Given the description of an element on the screen output the (x, y) to click on. 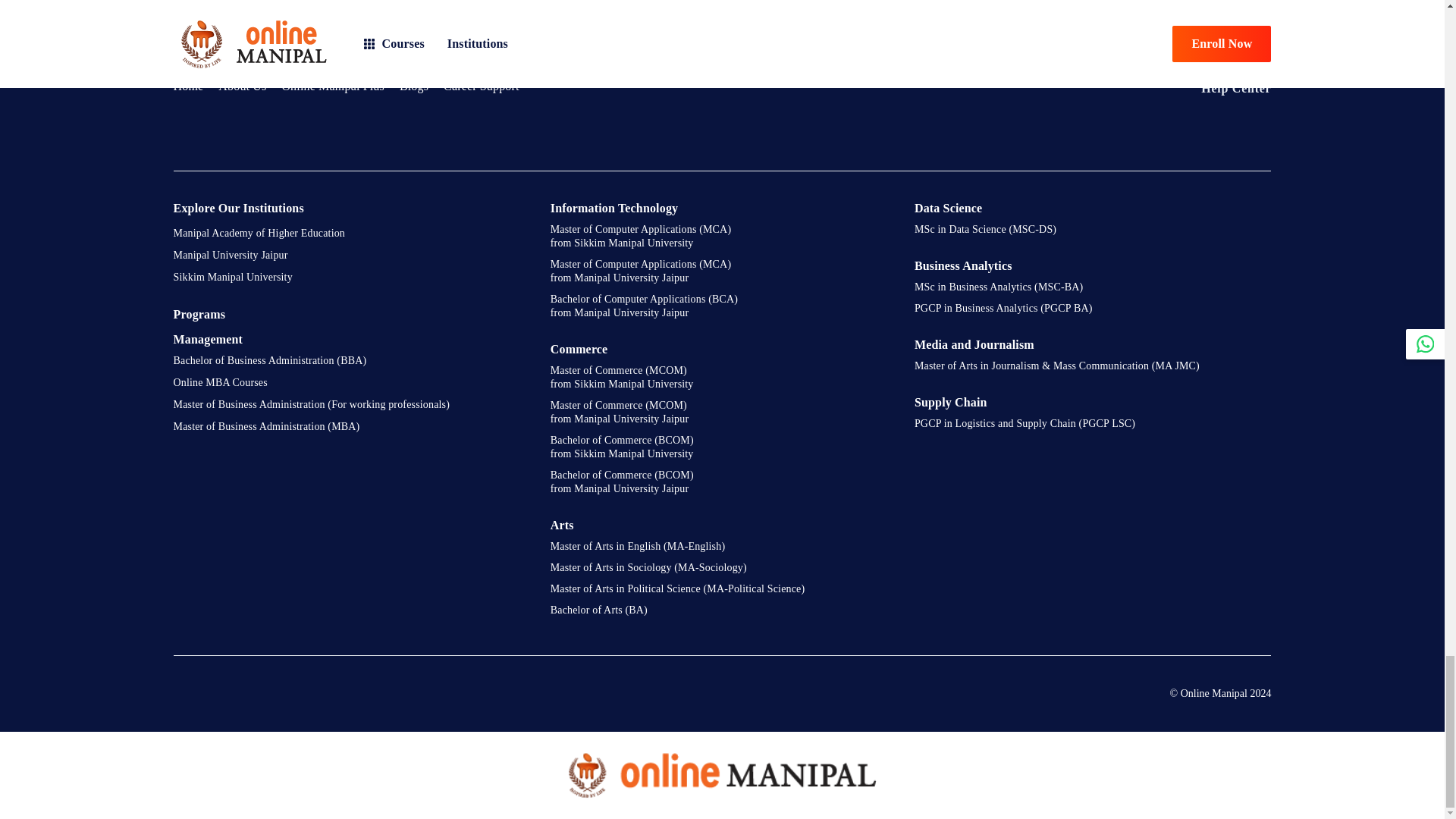
Manipal University Jaipur (350, 259)
Blogs (413, 85)
Help Center (1224, 88)
Online Manipal Plus (332, 85)
Home (188, 85)
Manipal Academy of Higher Education (350, 237)
About Us (242, 85)
Career Support (481, 85)
Sikkim Manipal University (350, 281)
